Given the description of an element on the screen output the (x, y) to click on. 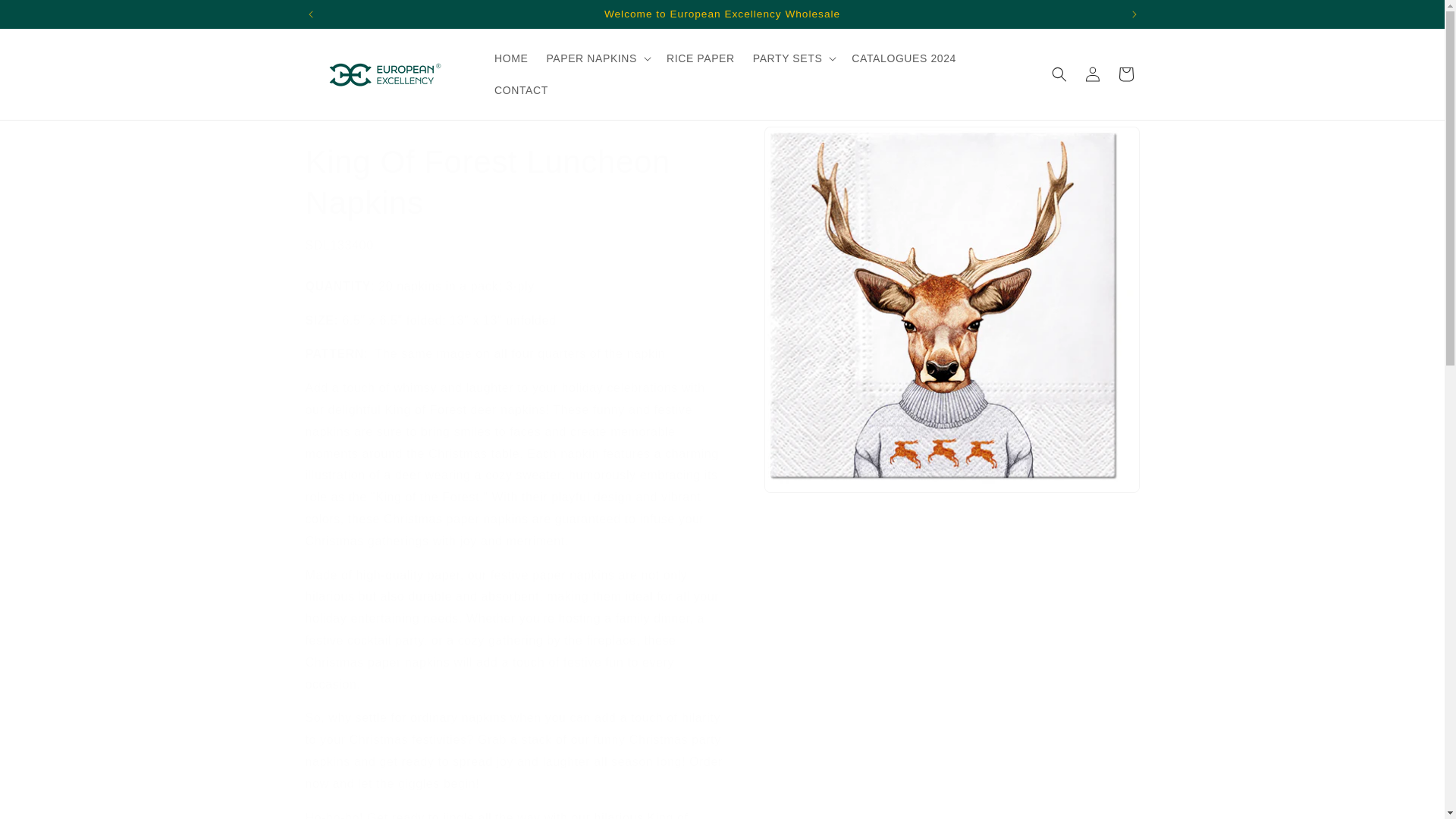
HOME (510, 58)
RICE PAPER (701, 58)
CATALOGUES 2024 (904, 58)
Cart (1124, 73)
Skip to content (45, 17)
Skip to product information (809, 143)
Log in (1091, 73)
CONTACT (520, 90)
